Given the description of an element on the screen output the (x, y) to click on. 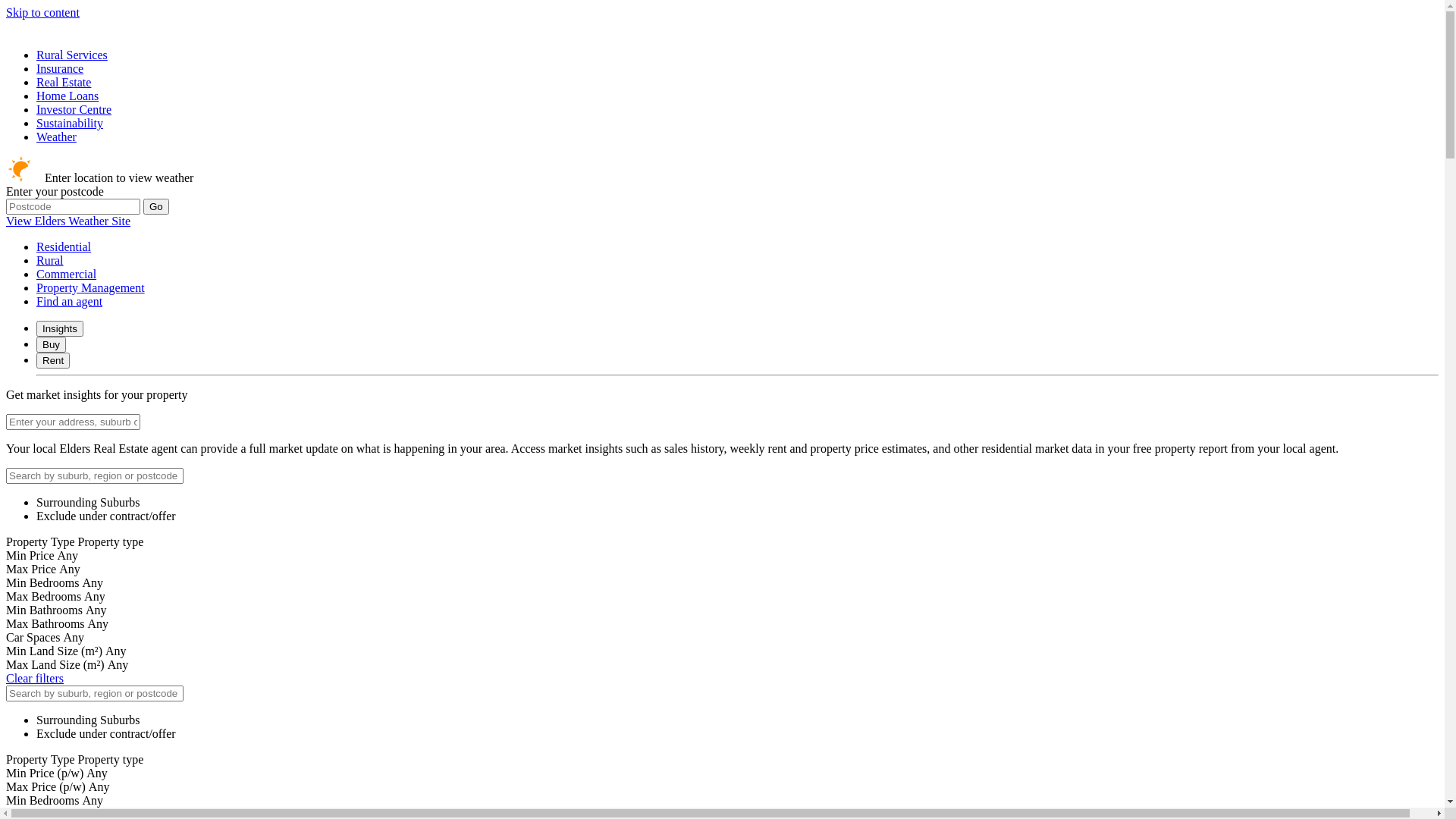
Find an agent Element type: text (69, 300)
Rural Element type: text (49, 260)
Property Management Element type: text (90, 287)
View Elders Weather Site Element type: text (68, 220)
Commercial Element type: text (66, 273)
Sustainability Element type: text (69, 122)
Residential Element type: text (63, 246)
Home Loans Element type: text (67, 95)
Enter location to view weather Element type: text (99, 177)
Weather Element type: text (56, 136)
Real Estate Element type: text (63, 81)
Insights Element type: text (59, 328)
Rent Element type: text (52, 360)
Go Element type: text (156, 206)
Skip to content Element type: text (42, 12)
Clear filters Element type: text (34, 677)
Rural Services Element type: text (71, 54)
Buy Element type: text (50, 344)
Insurance Element type: text (59, 68)
Investor Centre Element type: text (73, 109)
